Given the description of an element on the screen output the (x, y) to click on. 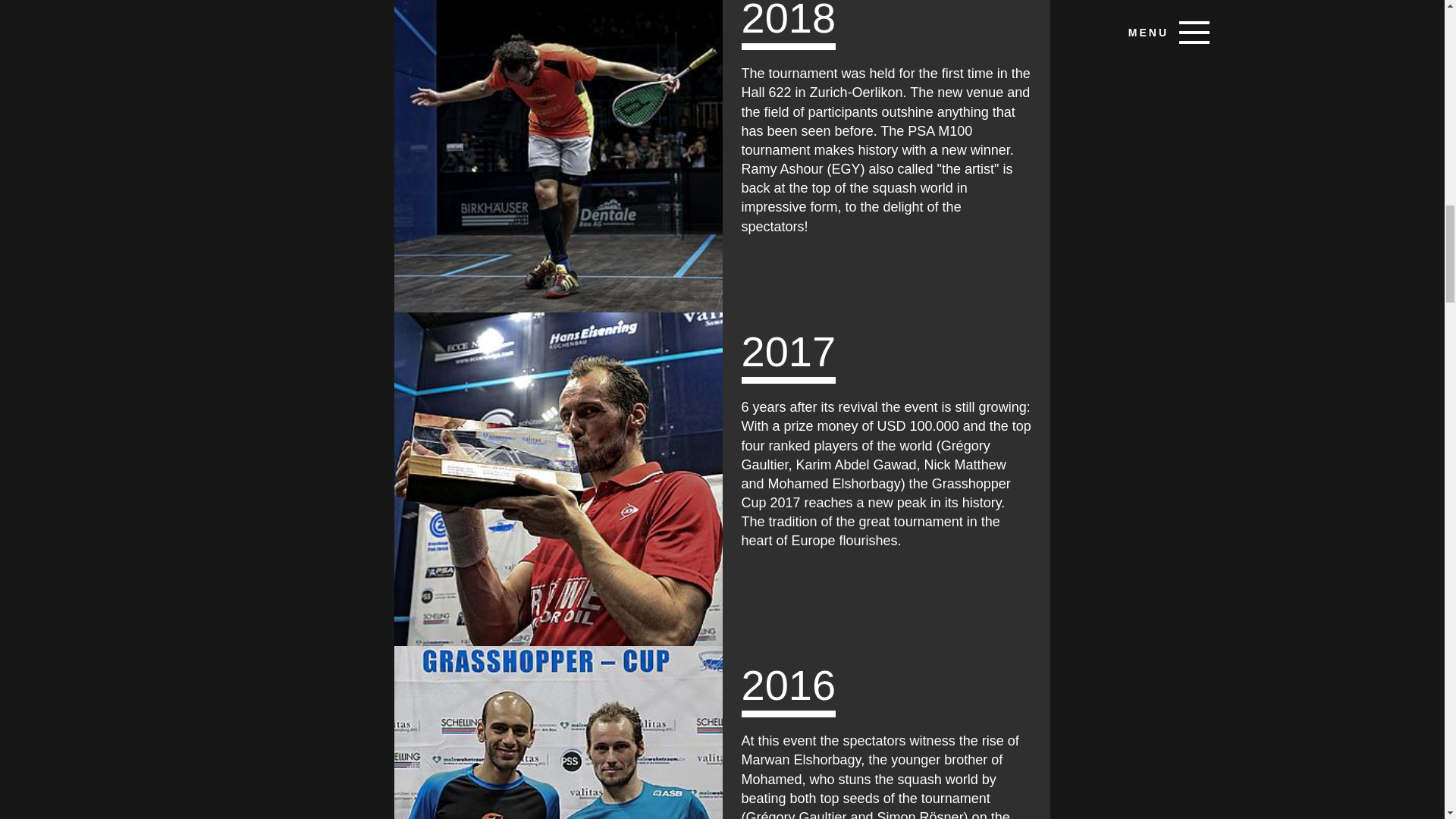
2017 (558, 479)
2016 (558, 732)
2018 (558, 156)
